Given the description of an element on the screen output the (x, y) to click on. 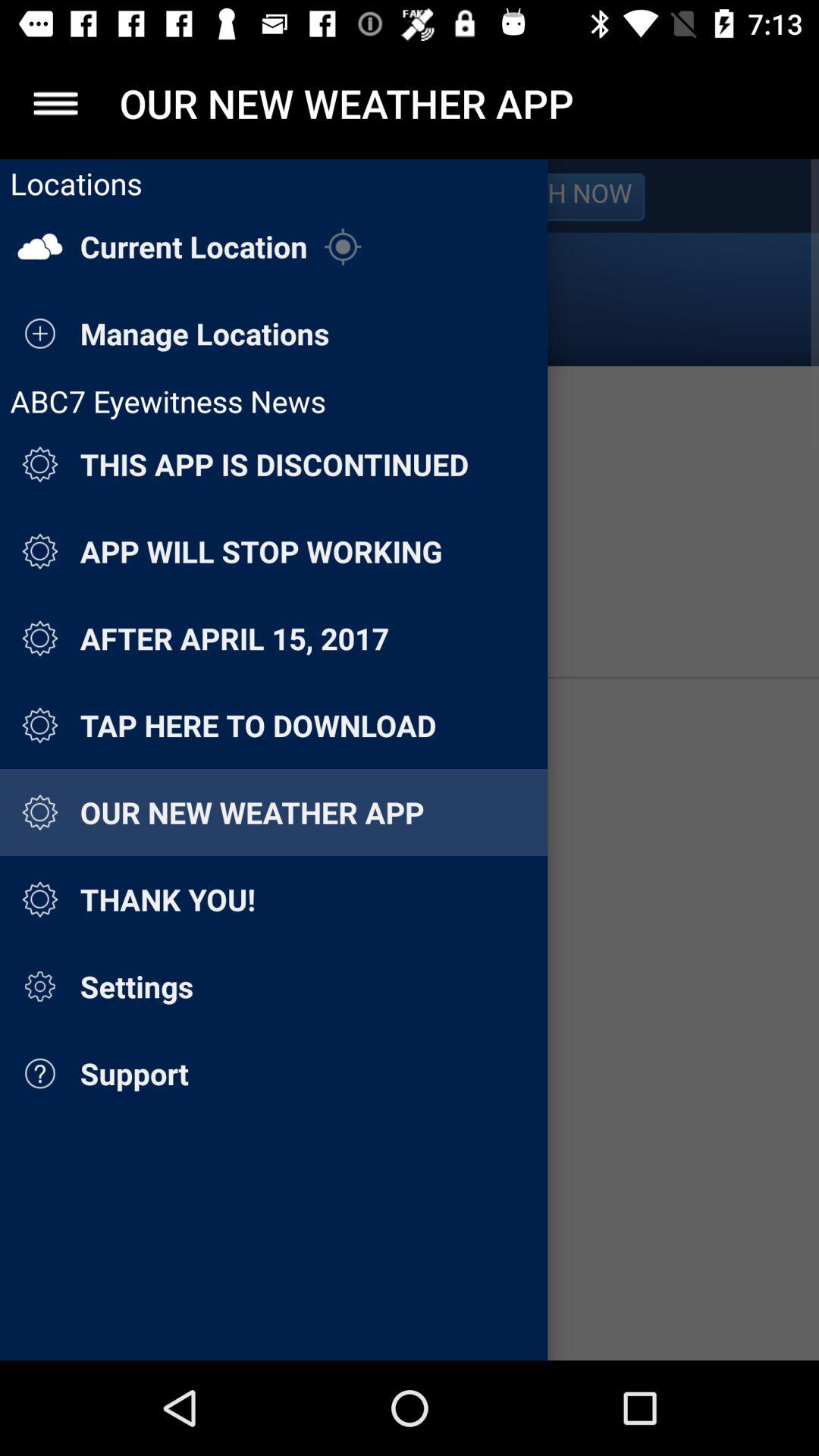
tap the icon next to the our new weather icon (55, 103)
